Given the description of an element on the screen output the (x, y) to click on. 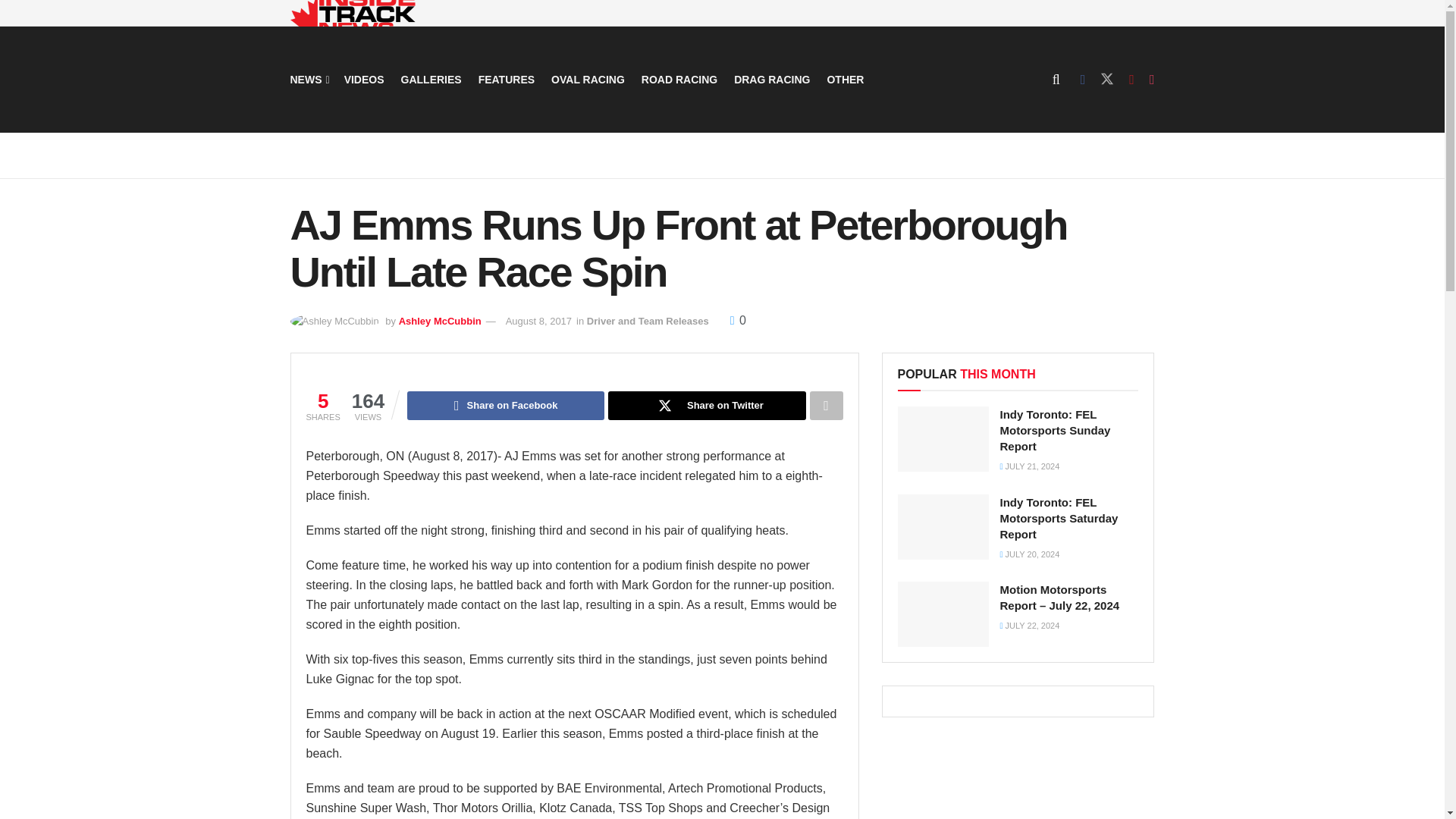
DRAG RACING (771, 79)
GALLERIES (431, 79)
FEATURES (506, 79)
VIDEOS (363, 79)
OVAL RACING (587, 79)
OTHER (845, 79)
ROAD RACING (679, 79)
NEWS (307, 79)
